Given the description of an element on the screen output the (x, y) to click on. 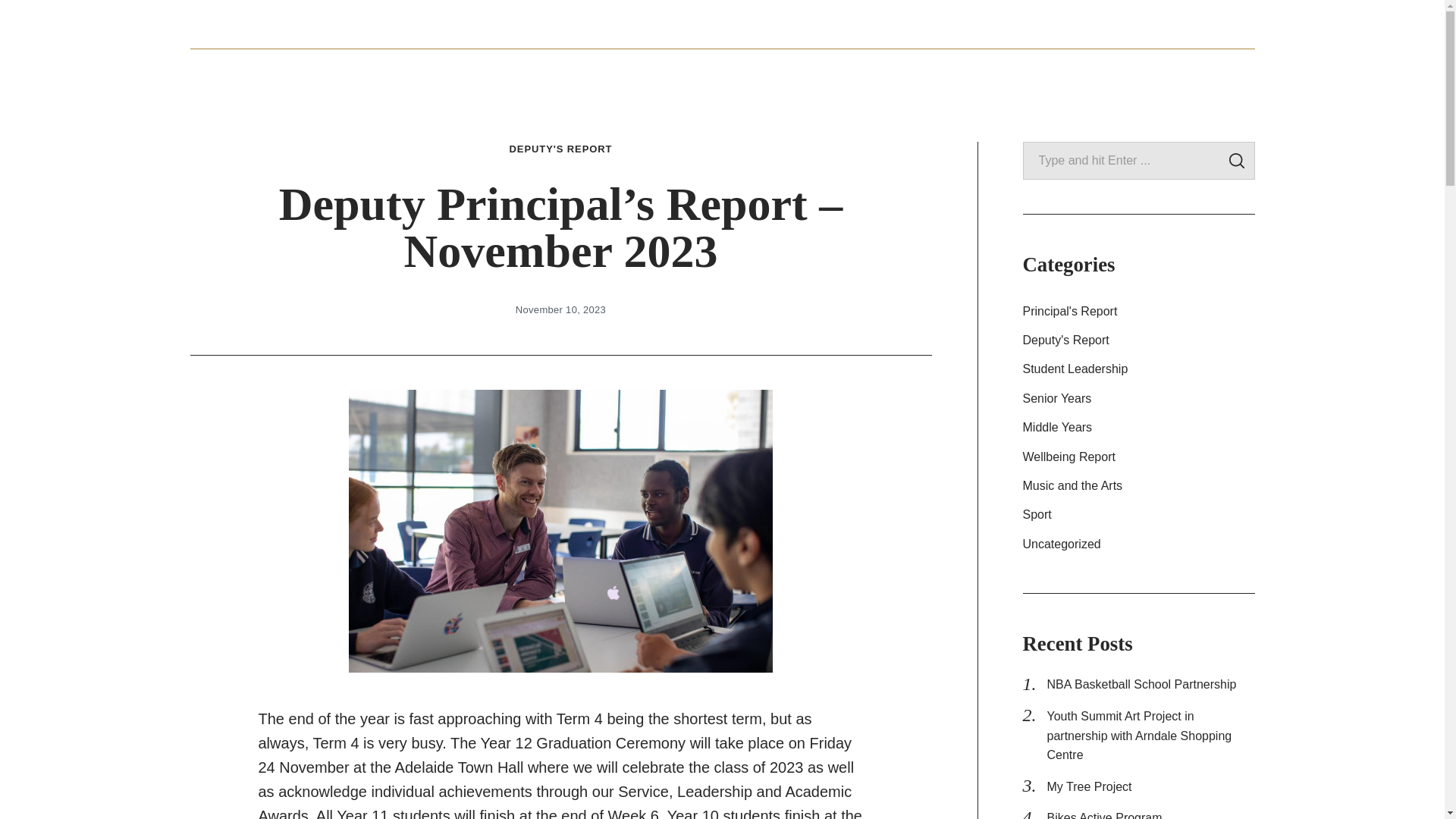
WHS NEWS (264, 22)
MIDDLE YEARS (820, 72)
STUDENT LEADERSHIP (565, 72)
DEPUTY'S REPORT (560, 149)
instagram (1188, 23)
SPORT (1220, 72)
MUSIC AND THE ARTS (1109, 72)
SENIOR YEARS (704, 72)
WELLBEING REPORT (955, 72)
SEARCH (1236, 160)
